Given the description of an element on the screen output the (x, y) to click on. 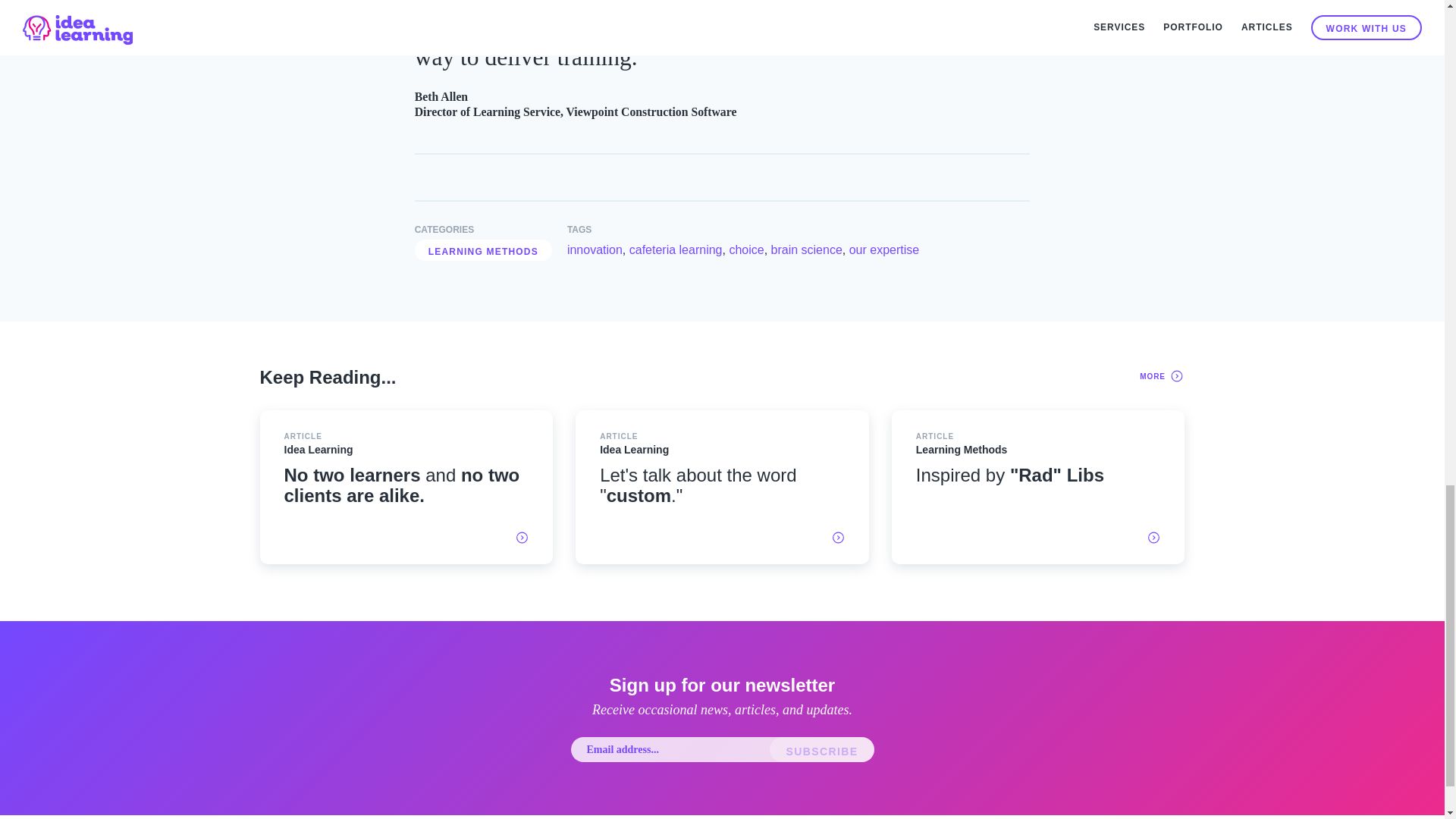
Subscribe (821, 749)
View Articles and Case Studies Tagged Learning Methods (482, 250)
Read Article (1038, 487)
MORE (722, 487)
View Articles and Case Studies Tagged cafeteria learning (1162, 374)
Subscribe (675, 250)
cafeteria learning (821, 749)
View Articles and Case Studies Tagged brain science (675, 250)
Read Article (807, 250)
